Given the description of an element on the screen output the (x, y) to click on. 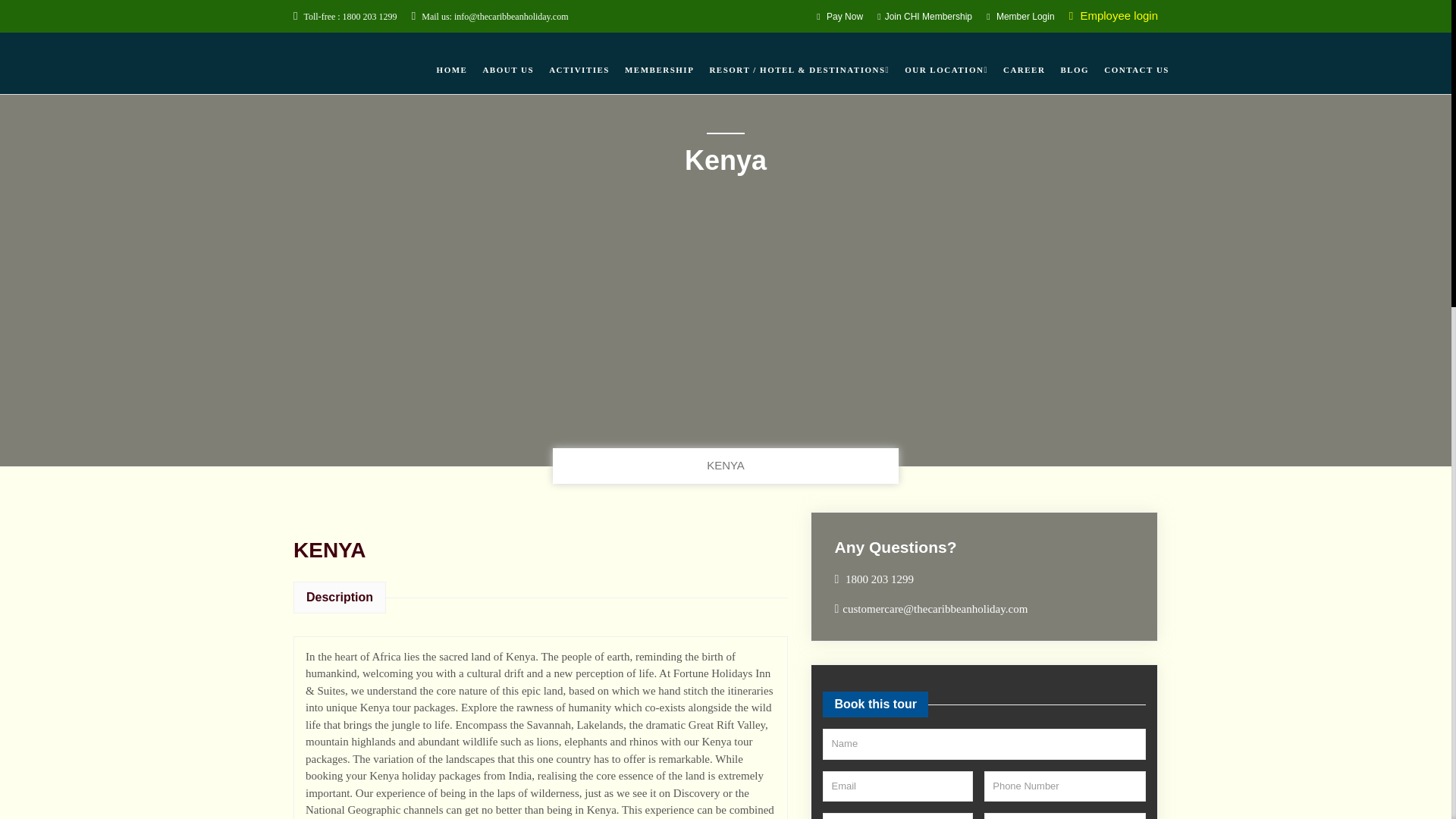
MEMBERSHIP (659, 69)
HOME (451, 69)
ACTIVITIES (579, 69)
Pay Now (839, 16)
Member Login (1020, 16)
Employee login (1112, 15)
Join CHI Membership (924, 16)
ABOUT US (507, 69)
